Given the description of an element on the screen output the (x, y) to click on. 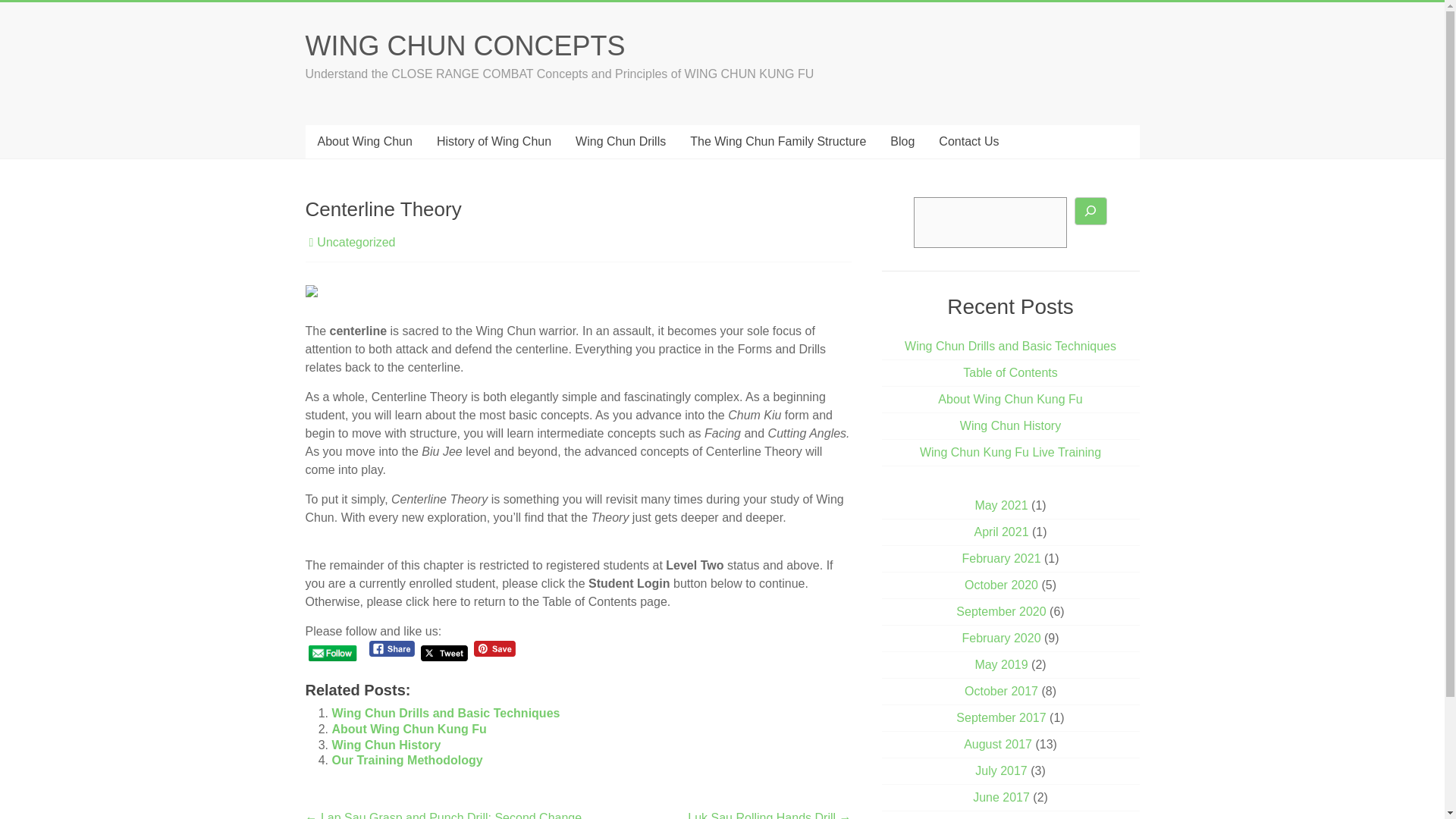
About Wing Chun (363, 141)
Wing Chun Drills and Basic Techniques (445, 712)
Wing Chun History (1010, 424)
Wing Chun Drills and Basic Techniques (1010, 345)
September 2020 (1000, 611)
Our Training Methodology (407, 759)
Facebook Share (391, 648)
Pin Share (494, 648)
Wing Chun Kung Fu Live Training (1010, 451)
February 2020 (1000, 636)
